Given the description of an element on the screen output the (x, y) to click on. 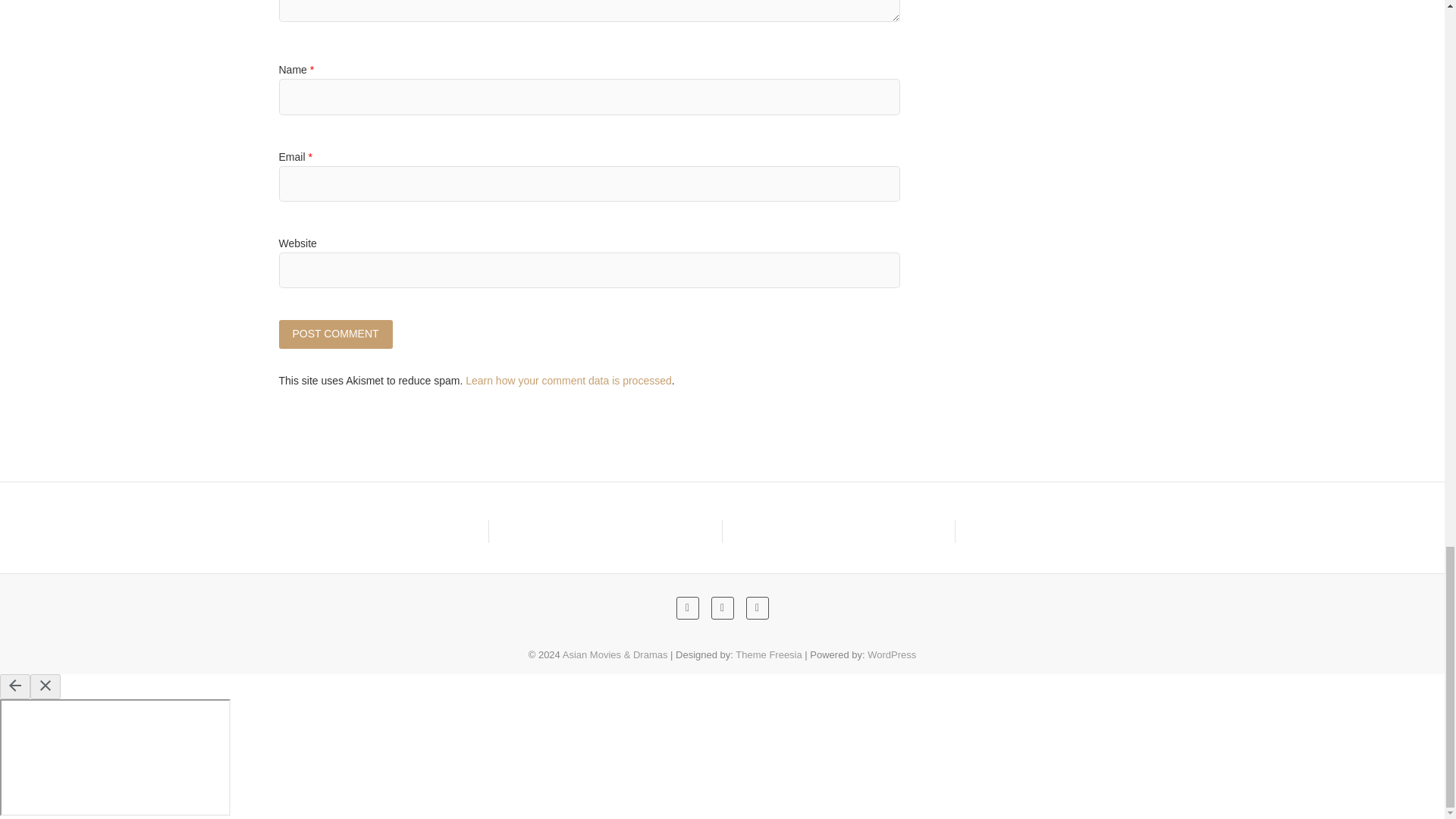
WordPress (891, 654)
Theme Freesia (768, 654)
WordPress (891, 654)
Theme Freesia (768, 654)
Post Comment (336, 334)
Post Comment (336, 334)
Learn how your comment data is processed (568, 380)
